Given the description of an element on the screen output the (x, y) to click on. 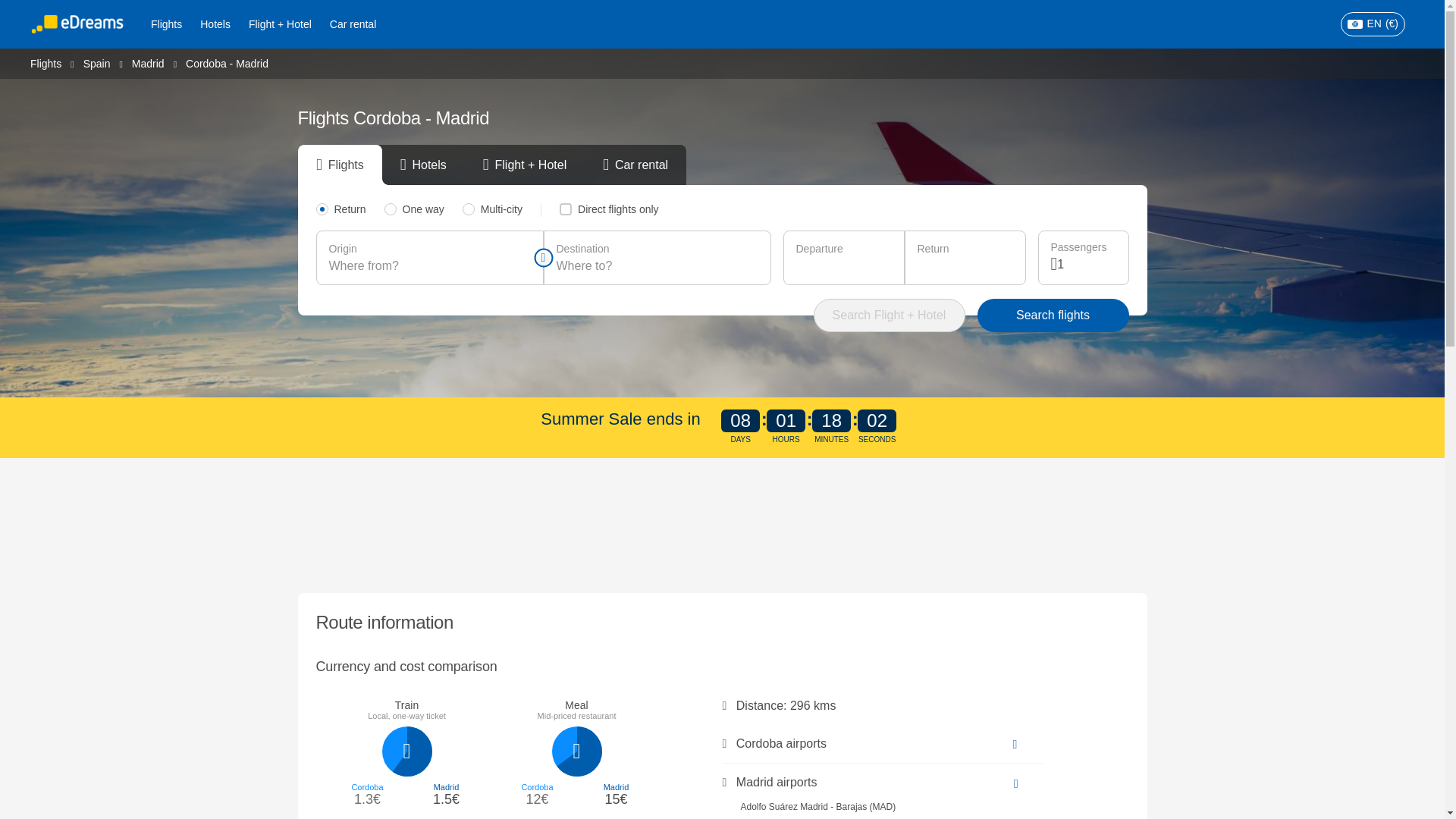
Flights (165, 24)
Madrid (148, 62)
Search flights (1052, 315)
1 (1086, 263)
Spain (96, 62)
Flights (45, 62)
Hotels (215, 24)
3rd party ad content (722, 522)
Car rental (352, 24)
Cordoba - Madrid (226, 63)
